Given the description of an element on the screen output the (x, y) to click on. 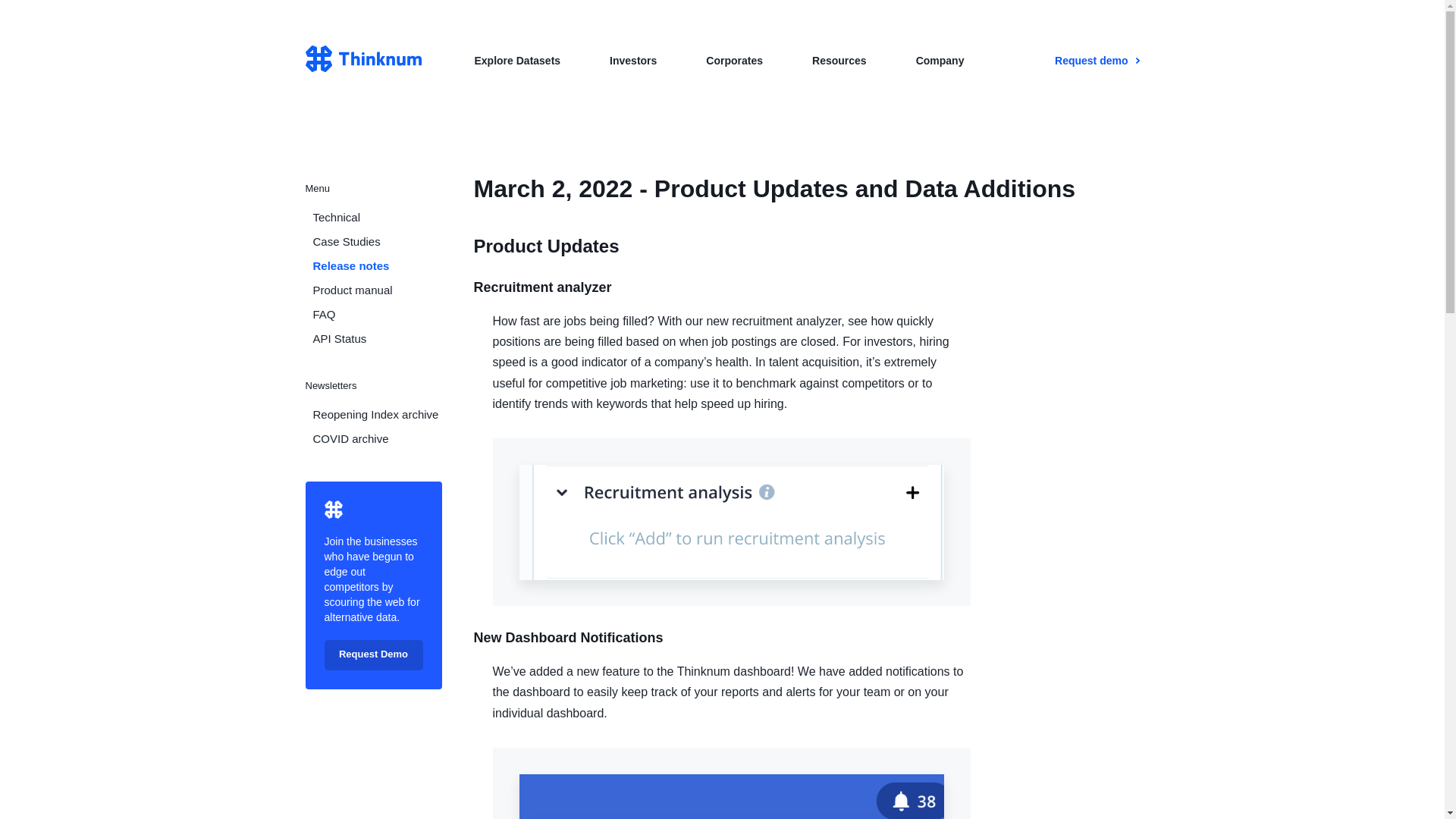
Corporates (734, 60)
Explore Datasets (517, 60)
Investors (633, 60)
